Given the description of an element on the screen output the (x, y) to click on. 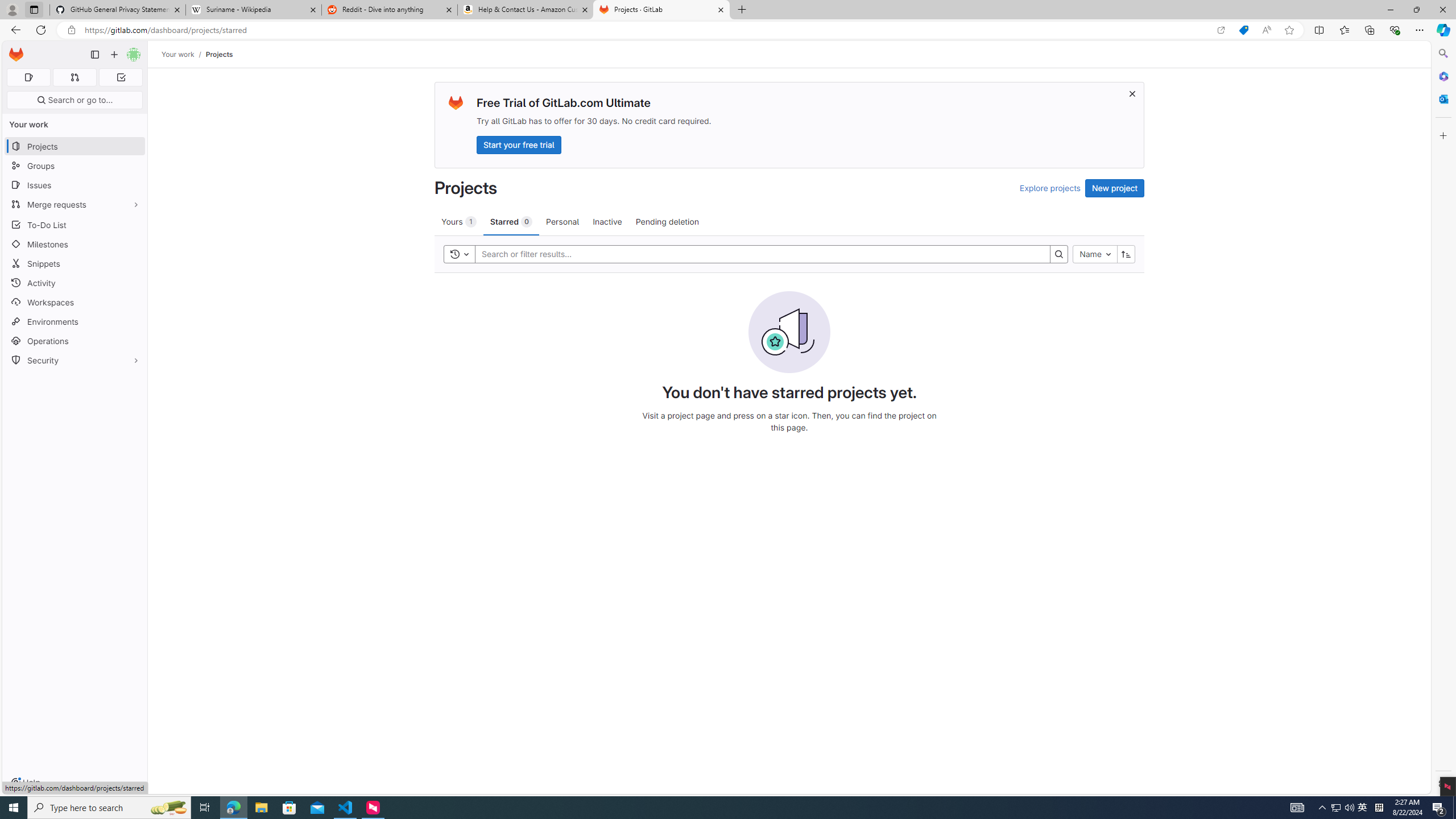
Assigned issues 0 (28, 76)
Yours 1 (458, 221)
Sort direction: Ascending (1125, 253)
Your work (178, 53)
Snippets (74, 262)
Primary navigation sidebar (94, 54)
